Given the description of an element on the screen output the (x, y) to click on. 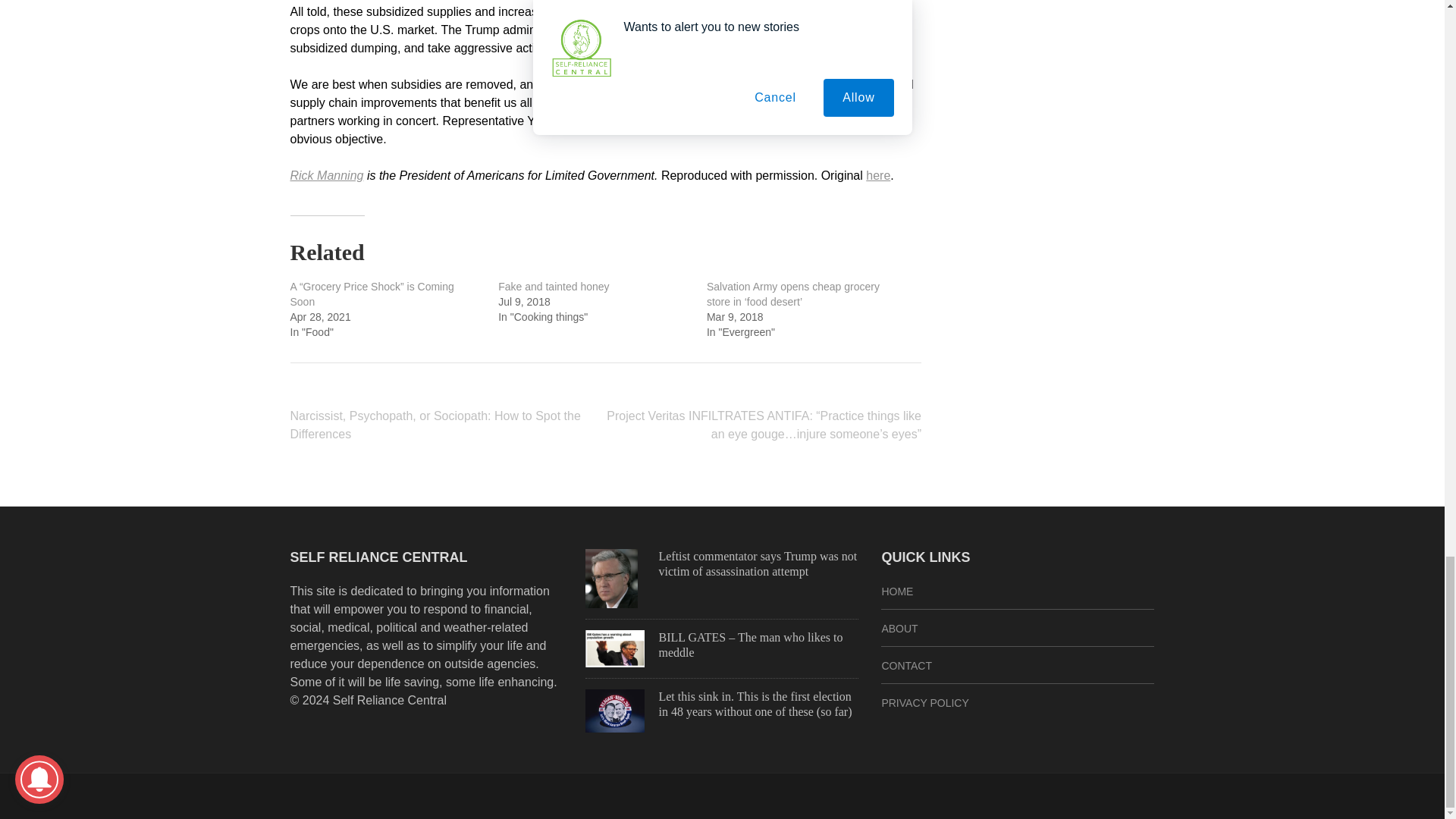
Fake and tainted honey (552, 286)
